Given the description of an element on the screen output the (x, y) to click on. 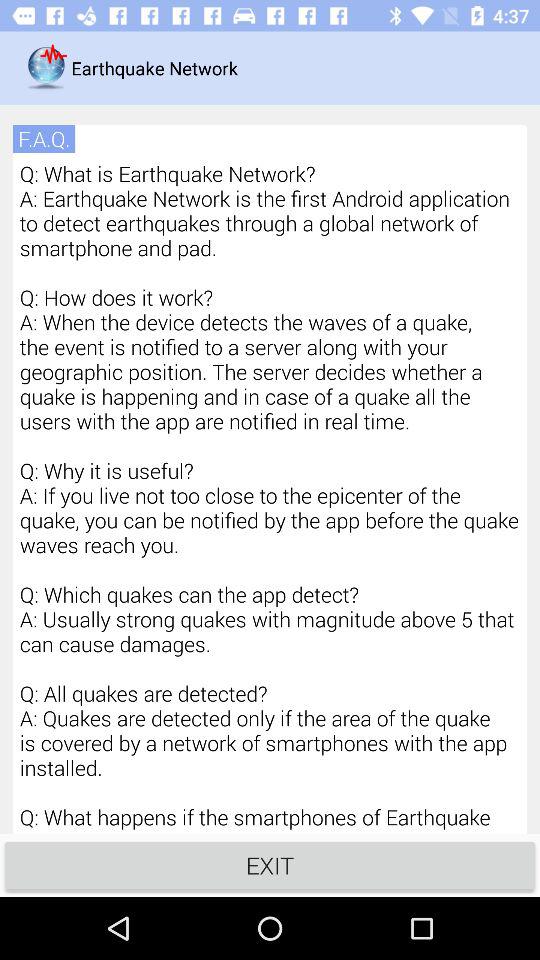
launch the icon at the center (269, 496)
